Given the description of an element on the screen output the (x, y) to click on. 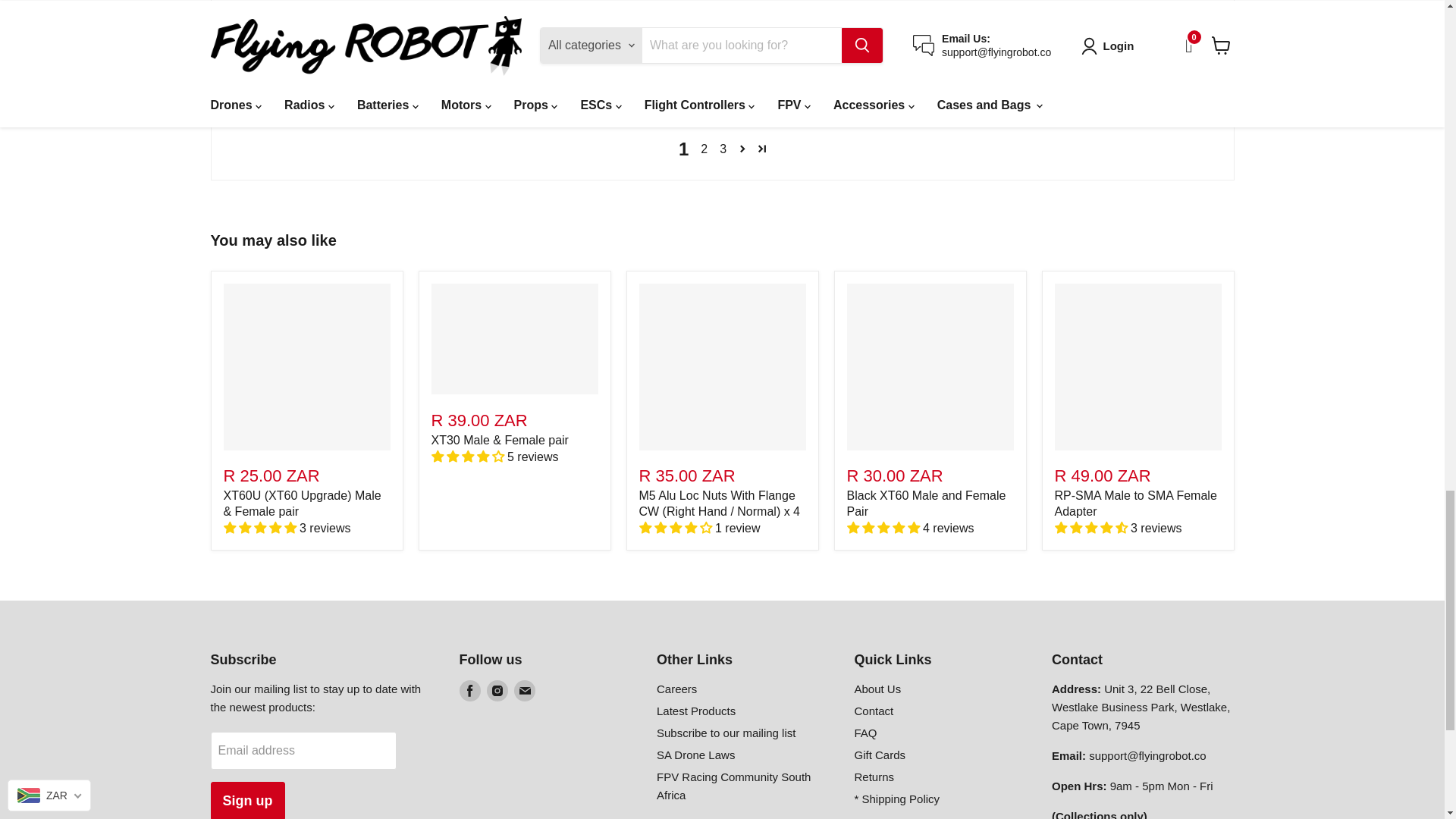
Facebook (470, 690)
Email (524, 690)
Instagram (497, 690)
